Given the description of an element on the screen output the (x, y) to click on. 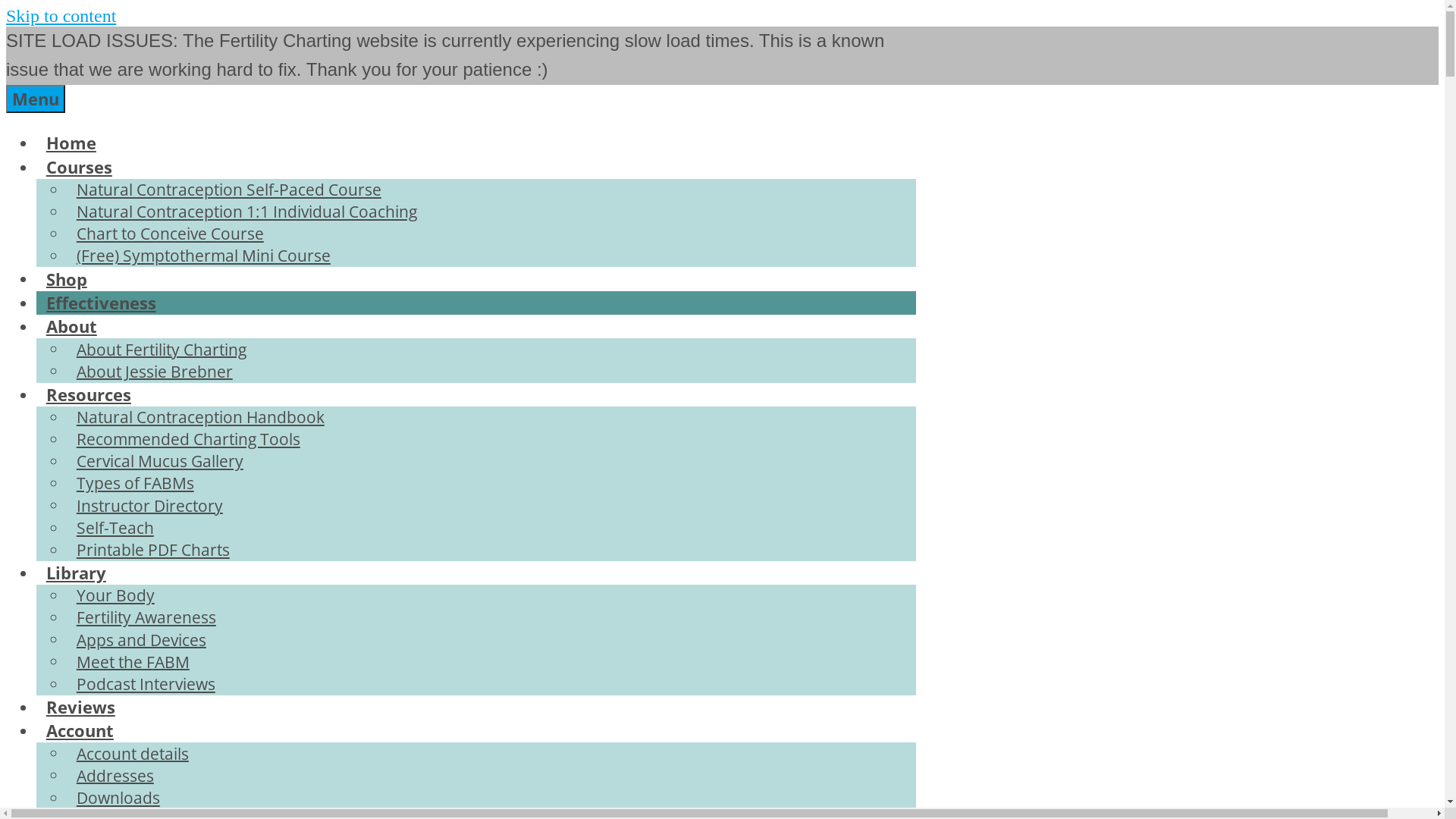
Addresses Element type: text (114, 775)
Downloads Element type: text (117, 797)
Recommended Charting Tools Element type: text (188, 438)
Account Element type: text (79, 730)
Chart to Conceive Course Element type: text (169, 233)
Printable PDF Charts Element type: text (152, 549)
Effectiveness Element type: text (101, 302)
Library Element type: text (76, 572)
Cervical Mucus Gallery Element type: text (159, 460)
Apps and Devices Element type: text (141, 638)
Reviews Element type: text (80, 706)
Instructor Directory Element type: text (149, 505)
Podcast Interviews Element type: text (145, 683)
About Element type: text (71, 326)
Account details Element type: text (132, 753)
Menu Element type: text (35, 98)
Natural Contraception 1:1 Individual Coaching Element type: text (246, 211)
About Fertility Charting Element type: text (161, 349)
About Jessie Brebner Element type: text (154, 371)
Meet the FABM Element type: text (132, 661)
Shop Element type: text (66, 279)
Natural Contraception Self-Paced Course Element type: text (228, 189)
Self-Teach Element type: text (114, 527)
(Free) Symptothermal Mini Course Element type: text (203, 255)
Fertility Awareness Element type: text (145, 616)
Resources Element type: text (88, 394)
Natural Contraception Handbook Element type: text (200, 416)
Skip to content Element type: text (61, 15)
Types of FABMs Element type: text (134, 482)
Your Body Element type: text (115, 594)
Courses Element type: text (79, 166)
Home Element type: text (71, 142)
